Given the description of an element on the screen output the (x, y) to click on. 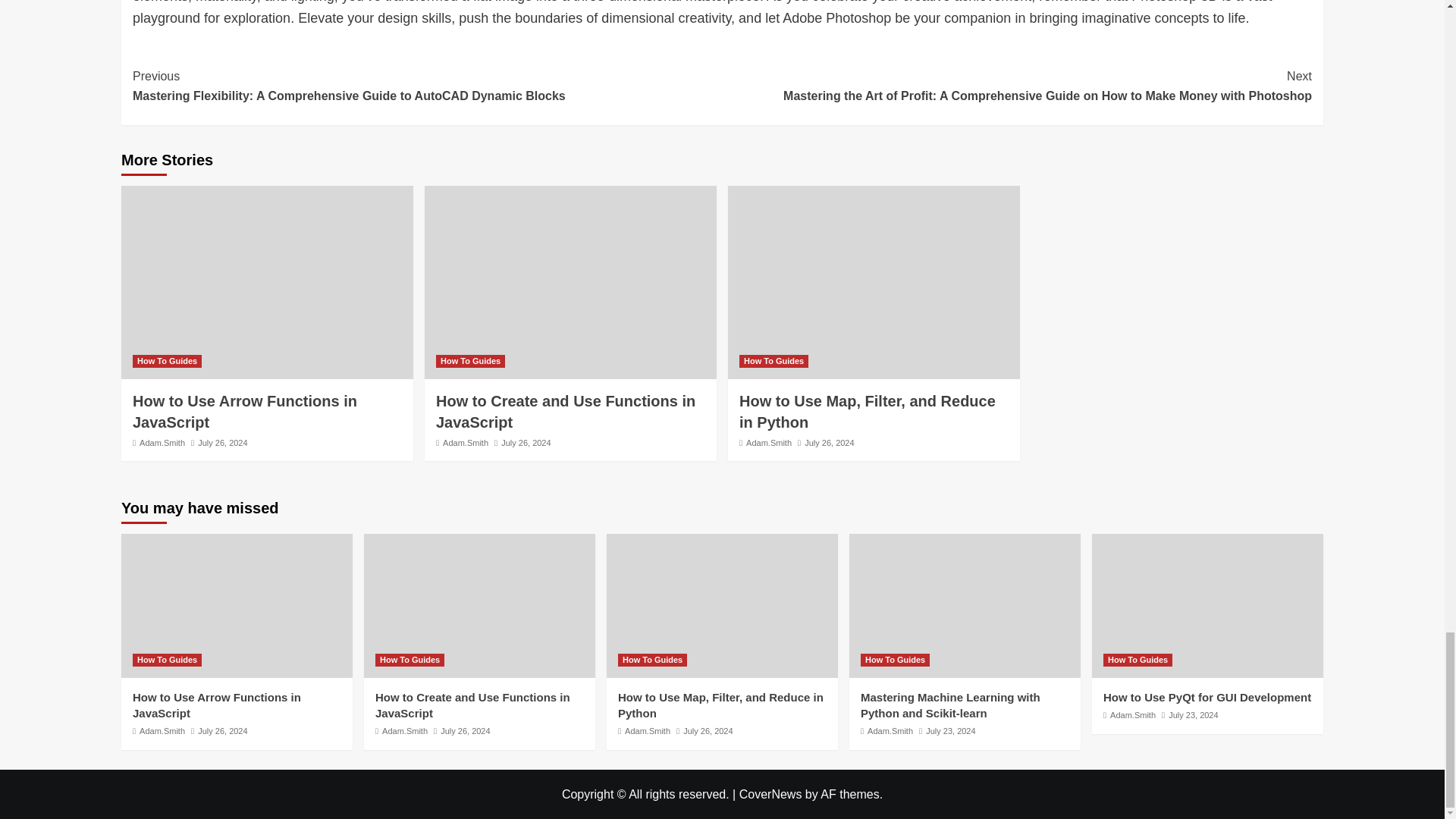
How To Guides (470, 360)
July 26, 2024 (525, 442)
How To Guides (167, 360)
How to Create and Use Functions in JavaScript (565, 411)
Adam.Smith (464, 442)
Adam.Smith (161, 442)
July 26, 2024 (222, 442)
How to Use Arrow Functions in JavaScript (244, 411)
